Given the description of an element on the screen output the (x, y) to click on. 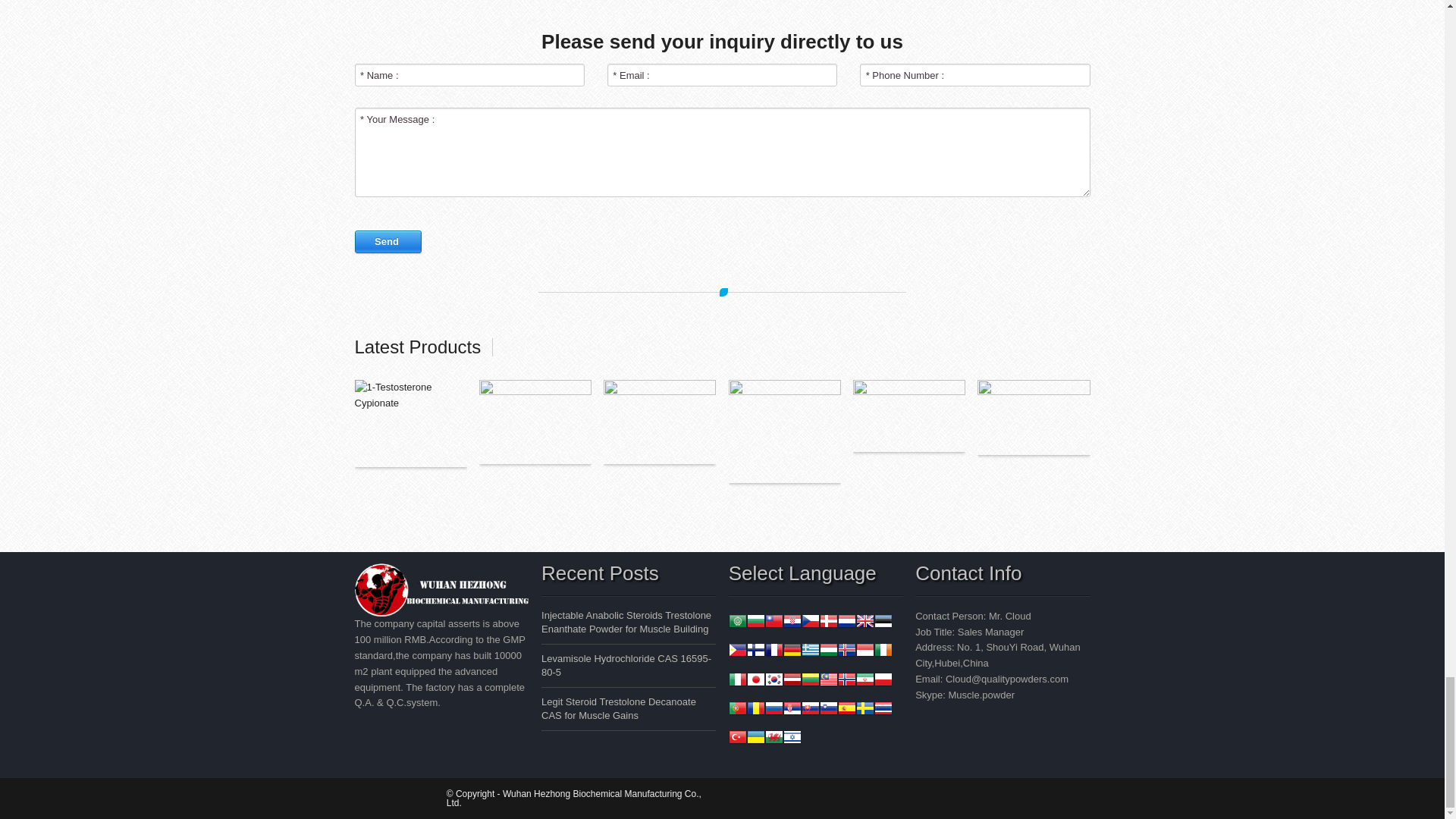
Bulgarian (755, 622)
Arabic (737, 622)
Permalink to Levamisole Hydrochloride CAS 16595-80-5 (626, 665)
Czech (810, 622)
Croatian (792, 622)
